Given the description of an element on the screen output the (x, y) to click on. 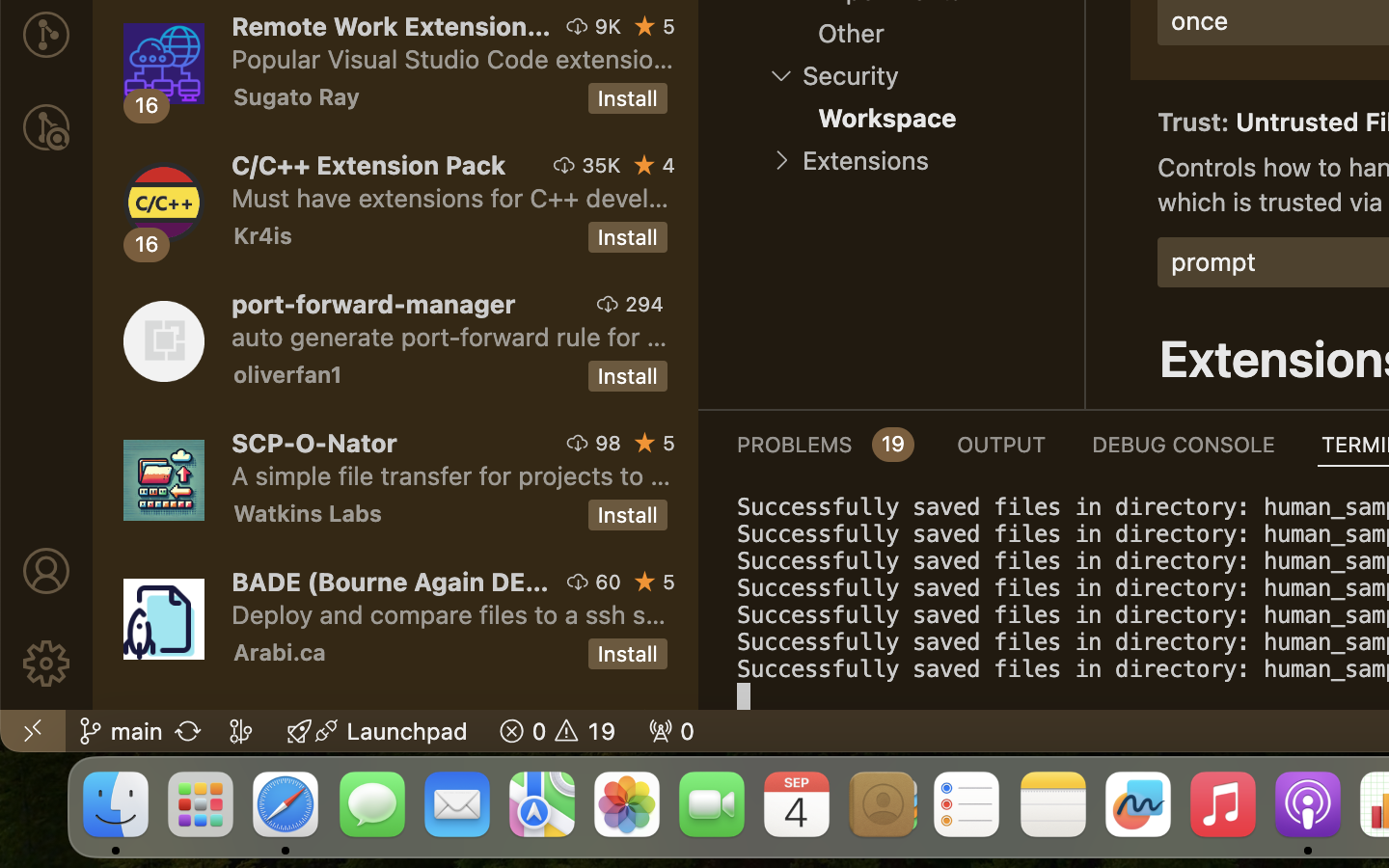
Watkins Labs Element type: AXStaticText (307, 512)
 Element type: AXGroup (46, 127)
35K Element type: AXStaticText (601, 164)
Must have extensions for C++ development in Visual Studio Code. Element type: AXStaticText (450, 197)
 Element type: AXStaticText (577, 581)
